Given the description of an element on the screen output the (x, y) to click on. 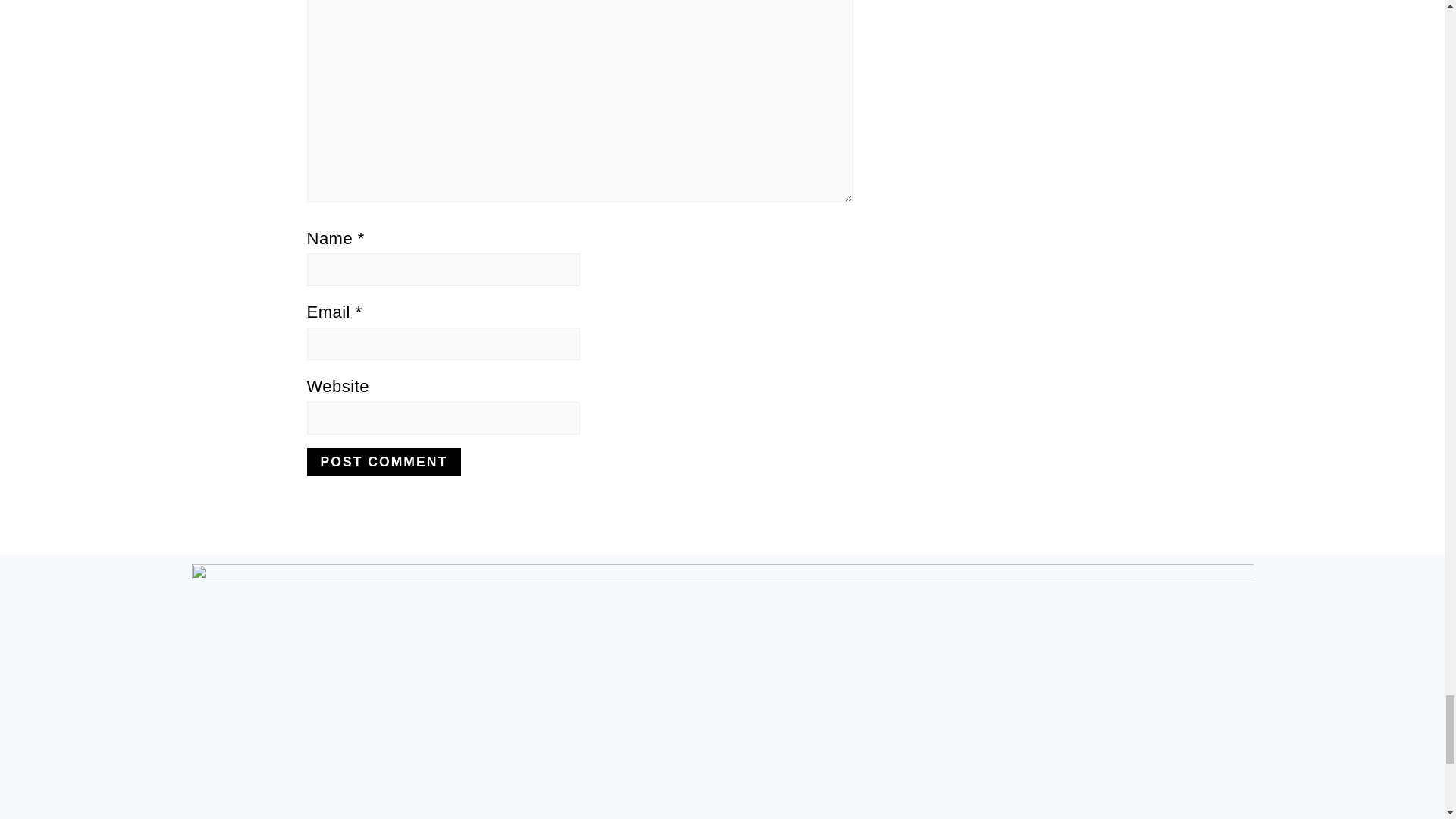
Post Comment (383, 461)
